Given the description of an element on the screen output the (x, y) to click on. 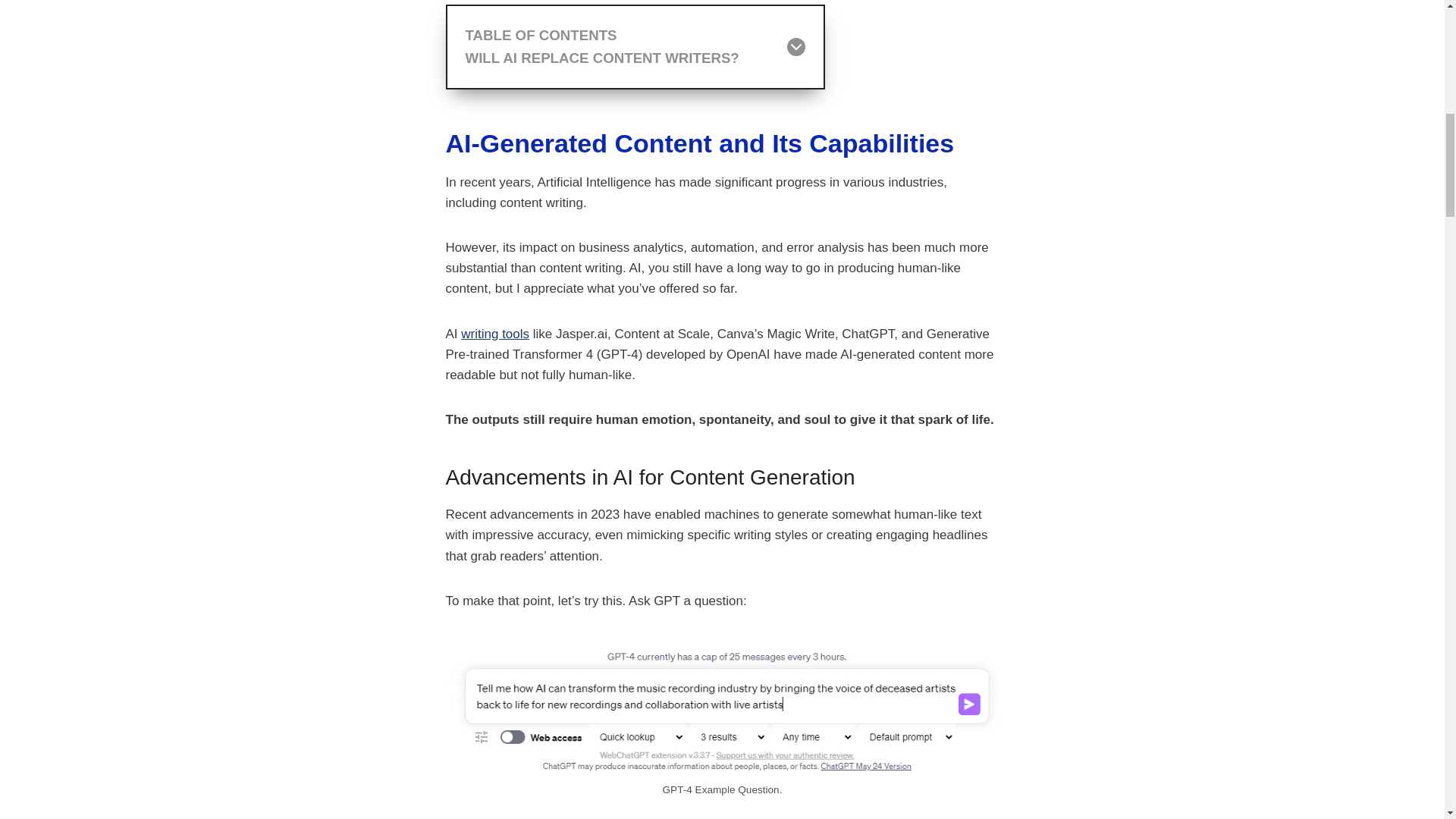
Will AI Replace Content Writers? Fear or Fear Not 1 (635, 46)
writing tools (721, 46)
